Given the description of an element on the screen output the (x, y) to click on. 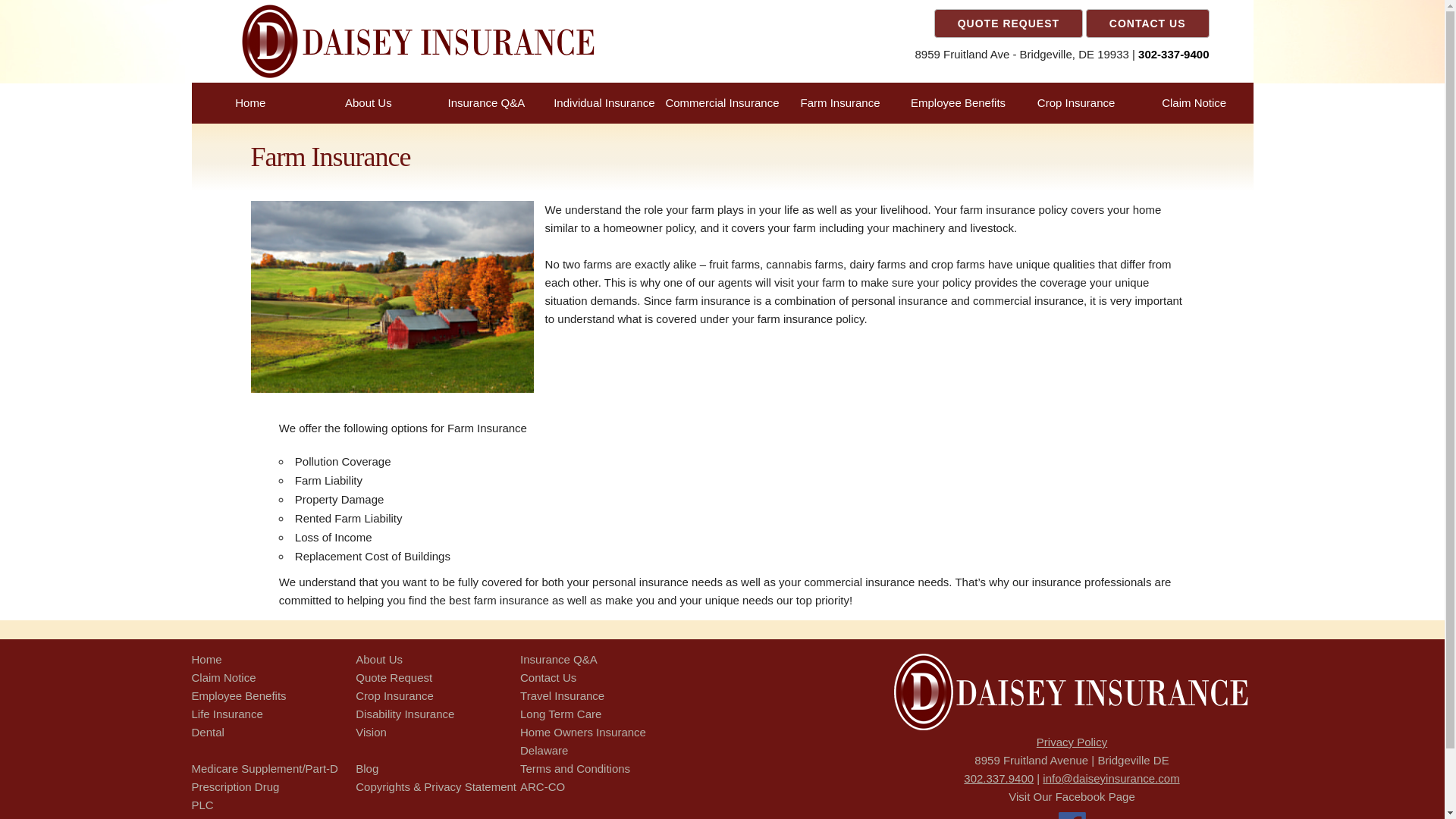
QUOTE REQUEST (1008, 22)
QUOTE REQUEST (1008, 23)
CONTACT US (1147, 22)
CONTACT US (1147, 23)
About Us (368, 102)
Home (205, 658)
About Us (379, 658)
302-337-9400 (1173, 53)
